Given the description of an element on the screen output the (x, y) to click on. 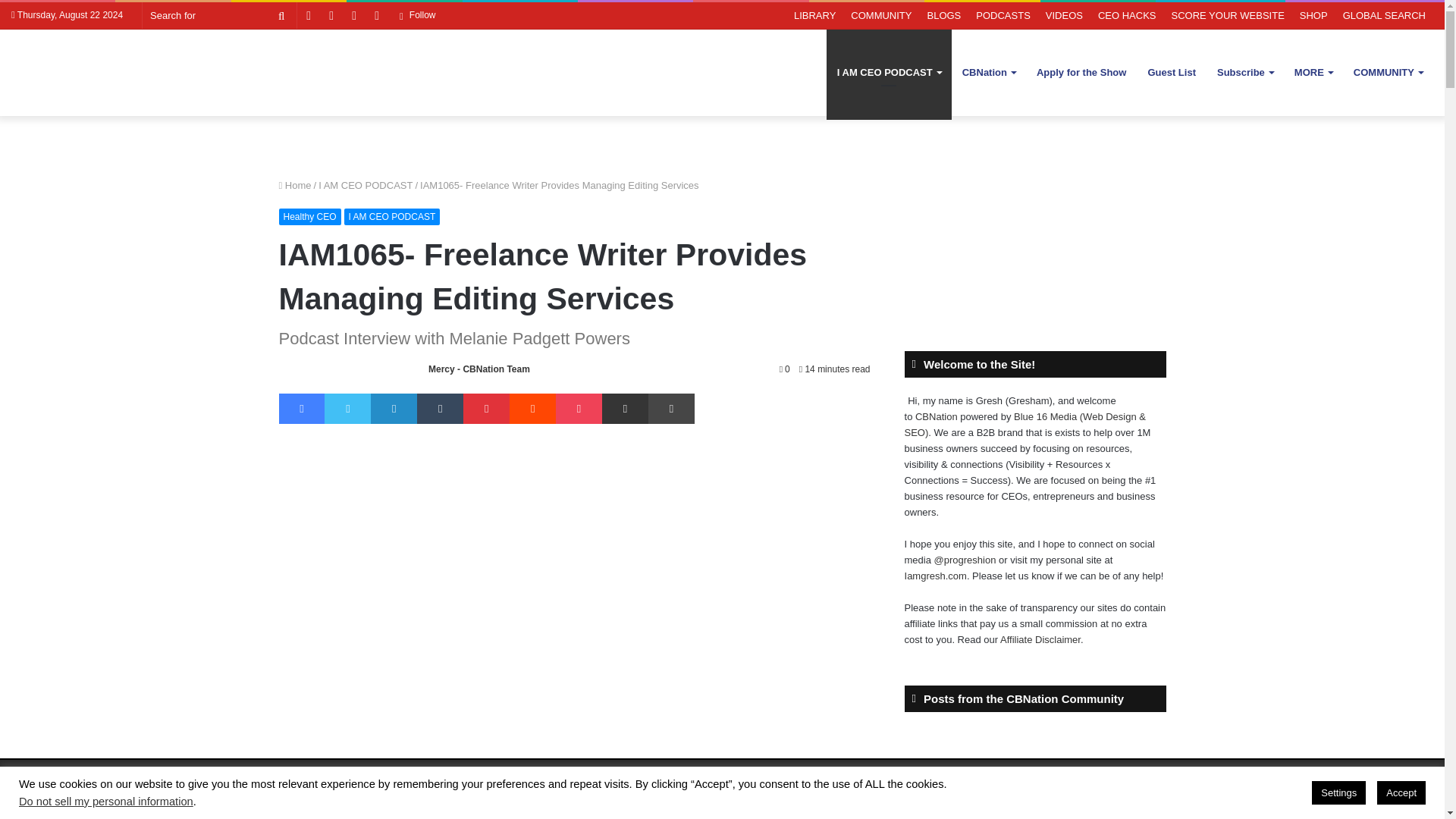
Follow (417, 15)
BLOGS (943, 15)
Twitter (347, 408)
CEO HACKS (1126, 15)
Speed: Normal (601, 781)
Search for (281, 15)
SCORE YOUR WEBSITE (1227, 15)
LinkedIn (393, 408)
Facebook (301, 408)
I AM CEO PODCAST (889, 72)
